Given the description of an element on the screen output the (x, y) to click on. 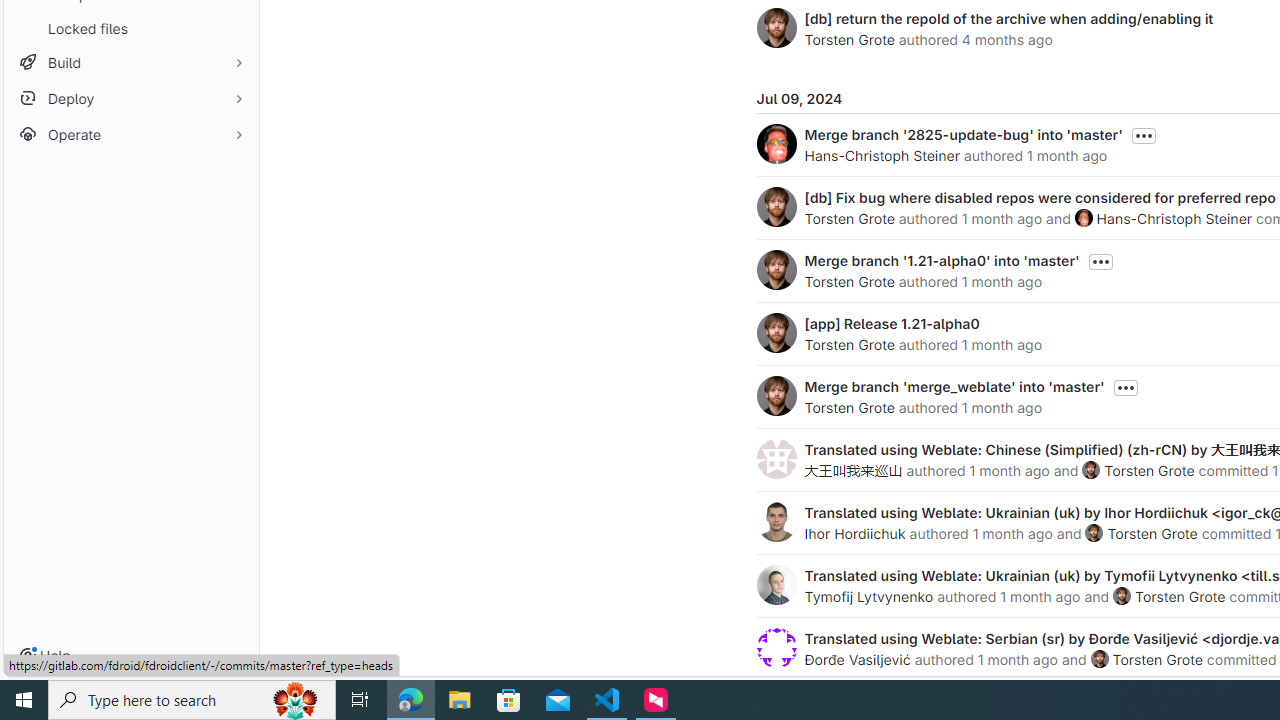
Build (130, 62)
Tymofij Lytvynenko's avatar (776, 584)
Ihor Hordiichuk's avatar (776, 521)
Tymofij Lytvynenko's avatar (776, 584)
